Given the description of an element on the screen output the (x, y) to click on. 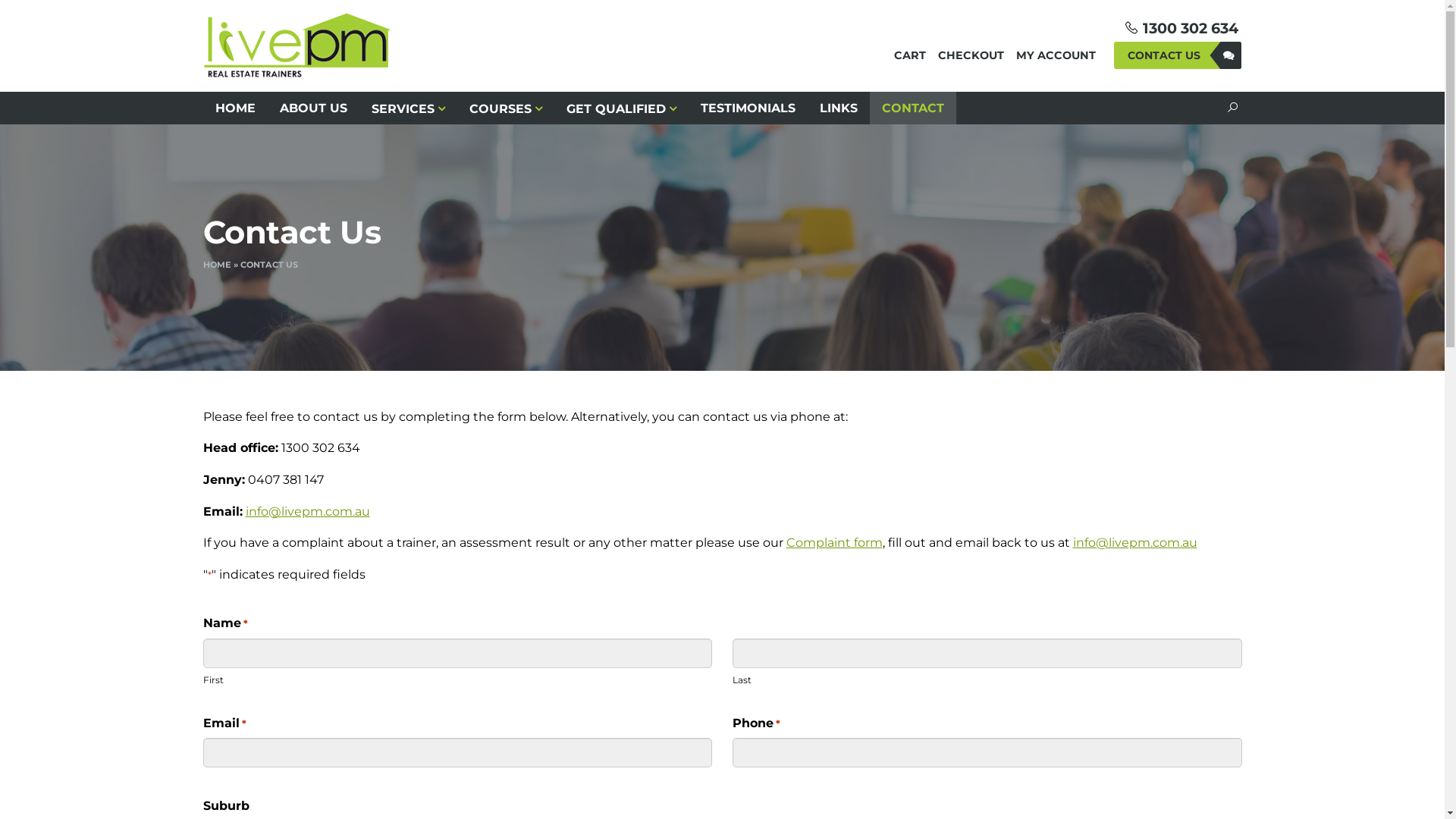
LINKS Element type: text (838, 107)
CONTACT US Element type: text (1177, 55)
info@livepm.com.au Element type: text (1134, 542)
1300 302 634 Element type: text (1190, 27)
Search Element type: text (1232, 107)
HOME Element type: text (217, 264)
ABOUT US Element type: text (312, 107)
info@livepm.com.au Element type: text (307, 511)
CHECKOUT Element type: text (970, 54)
SERVICES Element type: text (408, 107)
HOME Element type: text (235, 107)
GET QUALIFIED Element type: text (621, 107)
CONTACT Element type: text (912, 107)
COURSES Element type: text (505, 107)
MY ACCOUNT Element type: text (1055, 54)
TESTIMONIALS Element type: text (747, 107)
CART Element type: text (909, 54)
Complaint form Element type: text (833, 542)
